Given the description of an element on the screen output the (x, y) to click on. 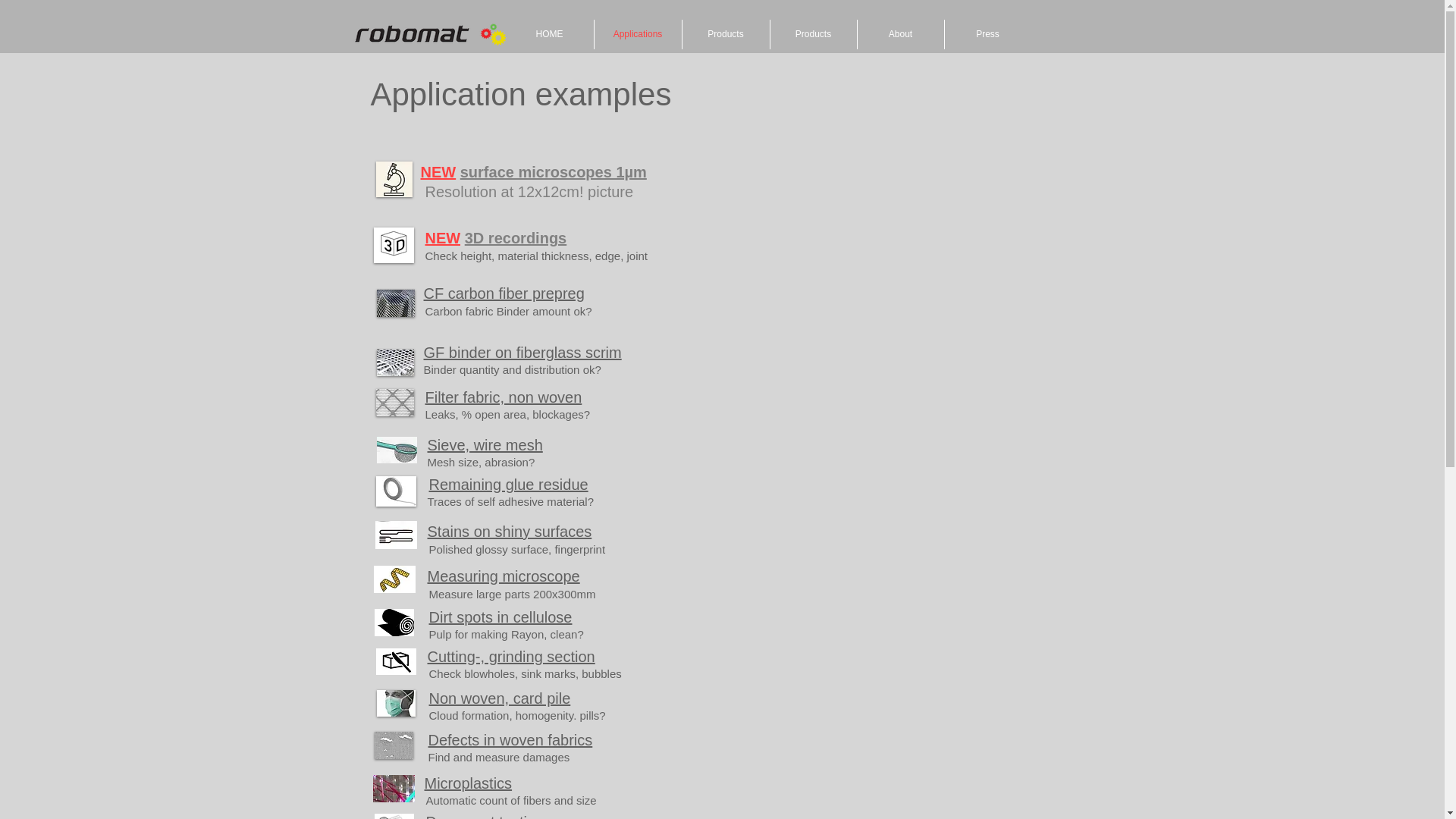
sieve.jpg (395, 449)
Cellulose.jpg (393, 622)
Check height, material thickness, edge, joint (536, 255)
Press (987, 34)
cutting test.jpg (395, 661)
Products (813, 34)
CF carbon fiber prepreg (503, 293)
Products (726, 34)
Applications (637, 34)
Document.jpg (393, 816)
Resolution at 12x12cm! picture (529, 191)
microplastic.jpg (393, 788)
HOME (548, 34)
About (900, 34)
NEW 3D recordings (495, 238)
